Given the description of an element on the screen output the (x, y) to click on. 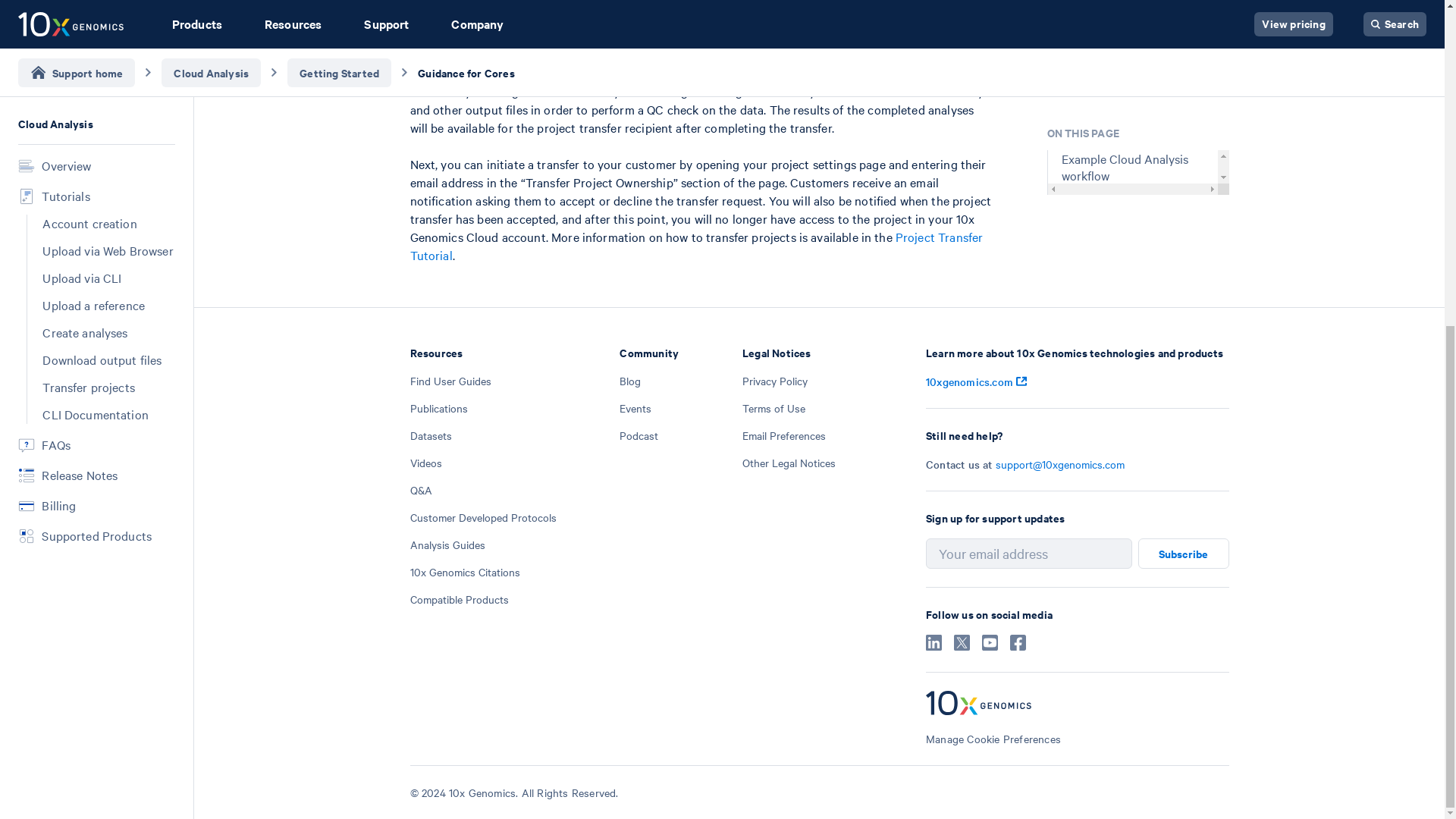
Datasets (430, 435)
10x Genomics (1077, 704)
Videos (425, 462)
Twitter (961, 645)
Supported Products (95, 5)
Customer Developed Protocols (482, 516)
Find User Guides (449, 380)
Youtube (989, 645)
Publications (438, 407)
Facebook (1018, 645)
